Given the description of an element on the screen output the (x, y) to click on. 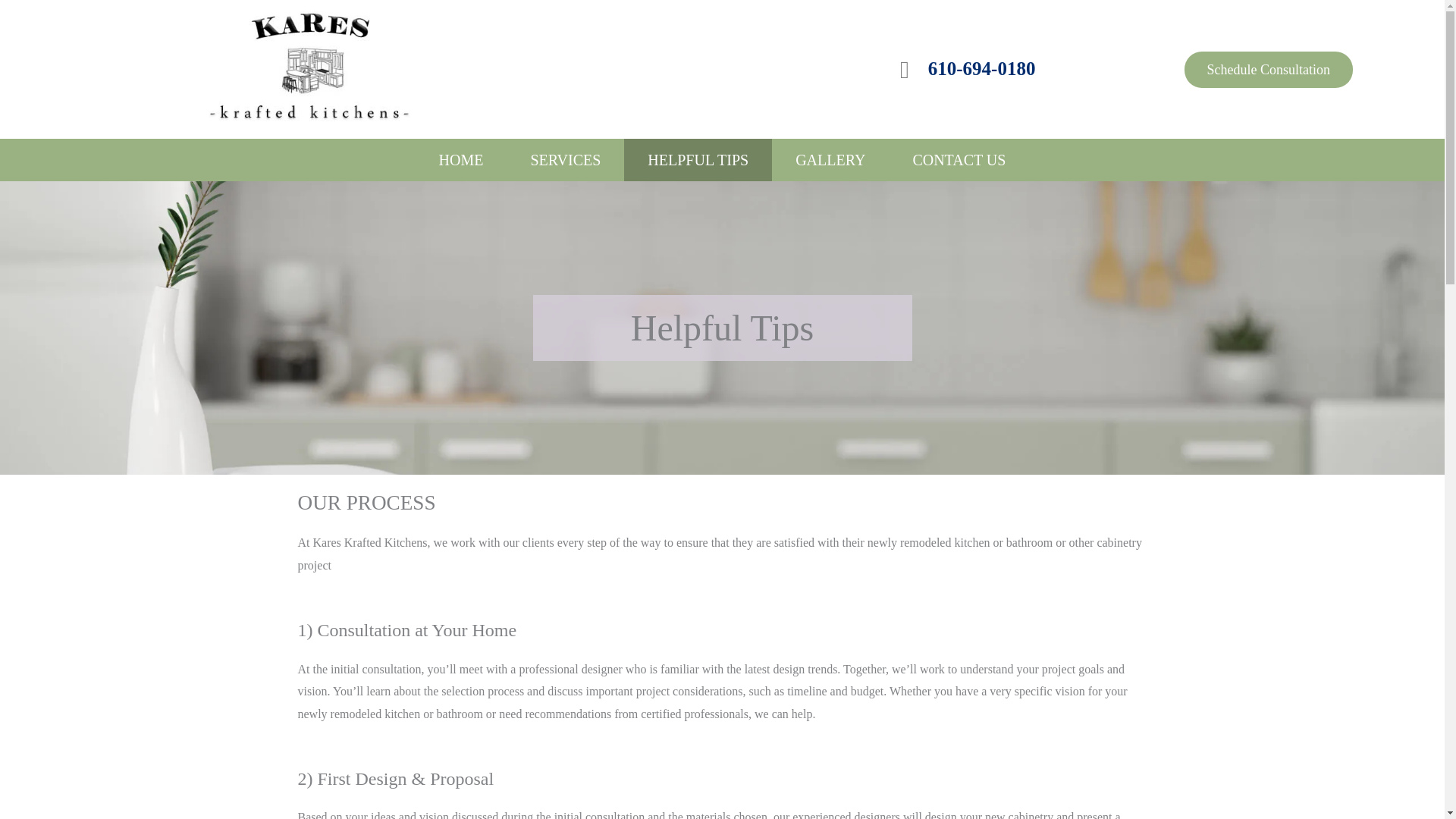
SERVICES (565, 159)
610-694-0180 (981, 67)
CONTACT US (958, 159)
HELPFUL TIPS (697, 159)
Schedule Consultation (1268, 69)
HOME (460, 159)
GALLERY (829, 159)
